Given the description of an element on the screen output the (x, y) to click on. 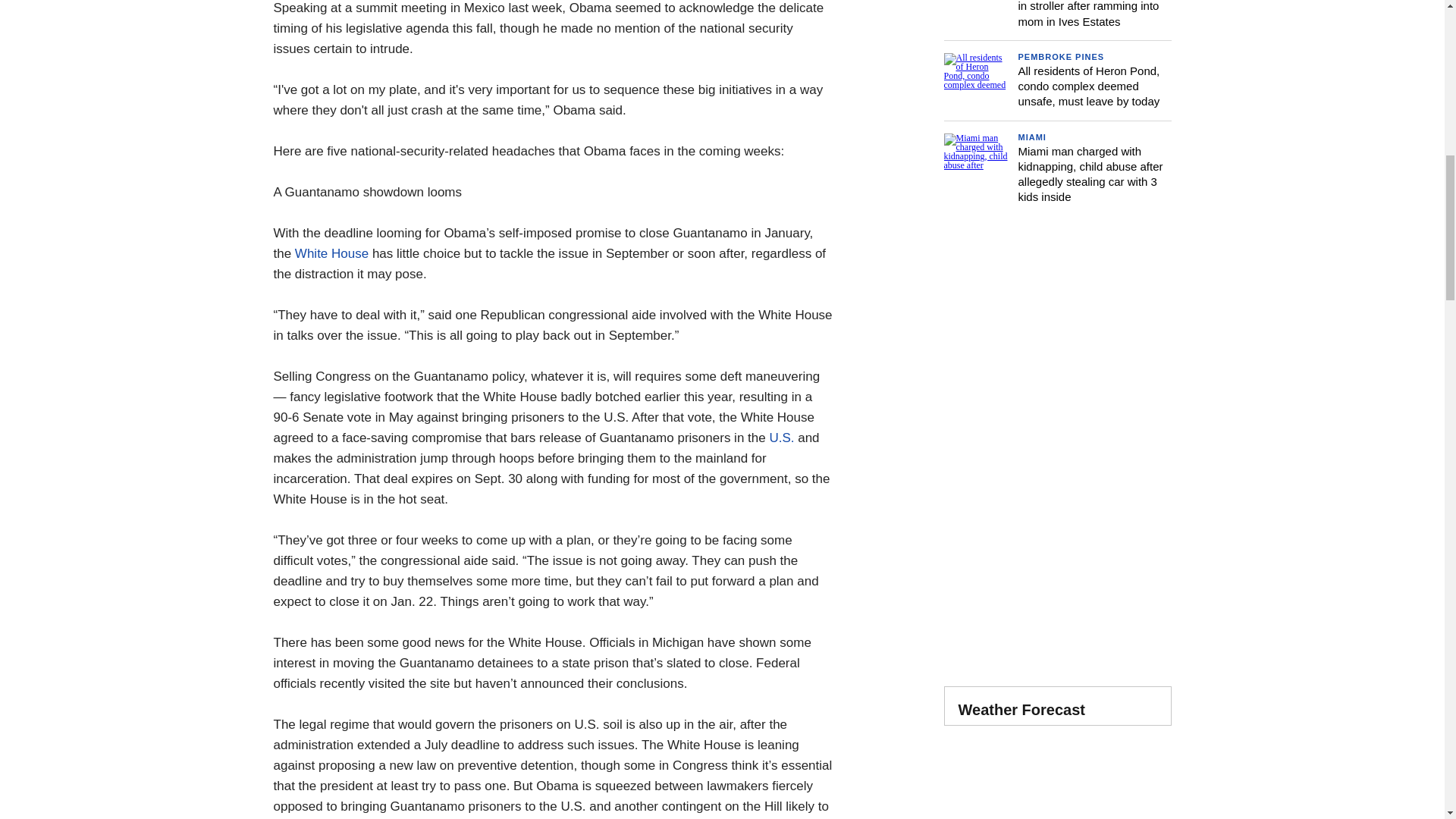
United States (780, 437)
The White House (331, 253)
U.S. (780, 437)
White House (331, 253)
